Given the description of an element on the screen output the (x, y) to click on. 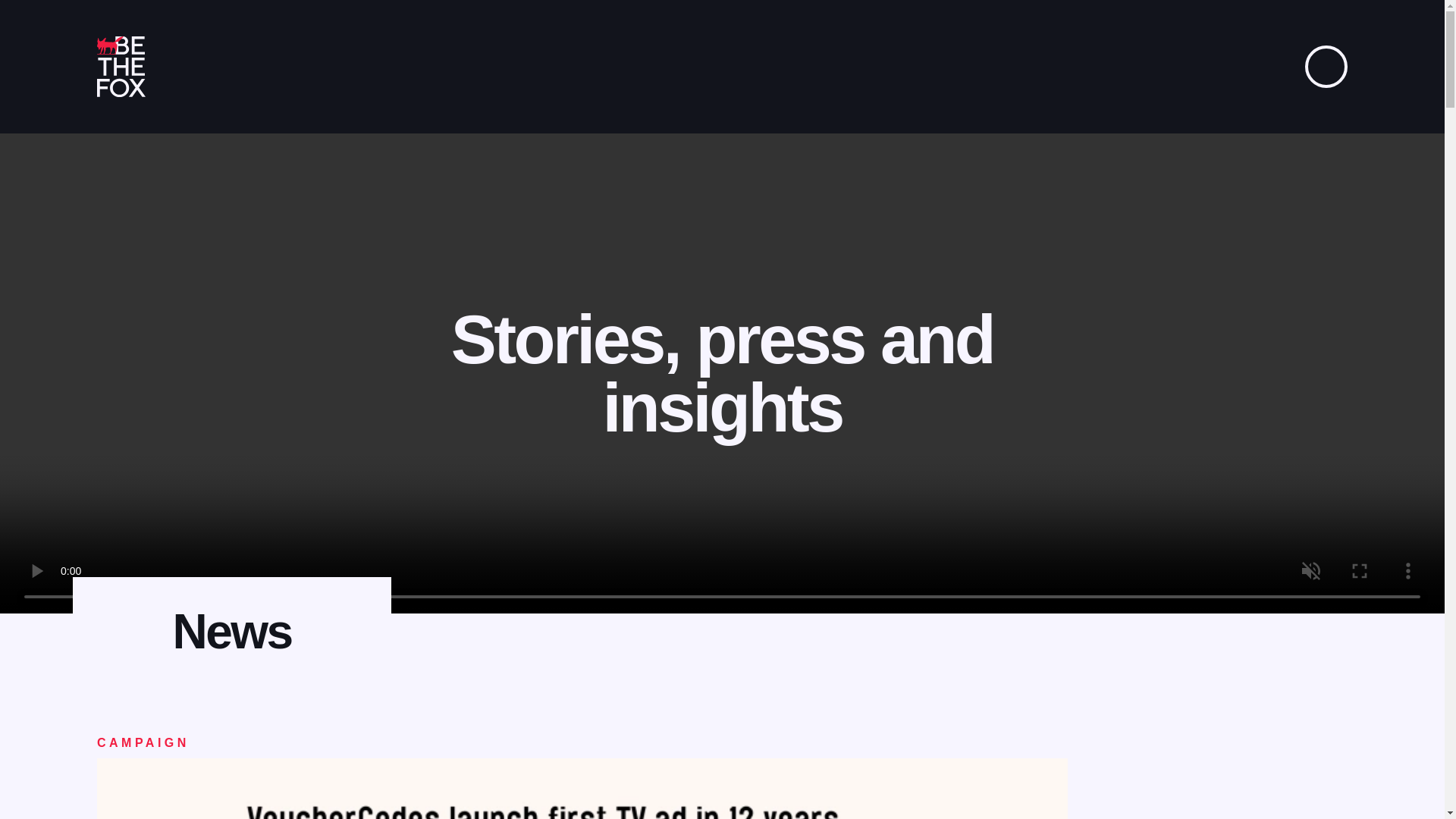
toggle menu (1326, 66)
BE THE FOX (121, 66)
